Given the description of an element on the screen output the (x, y) to click on. 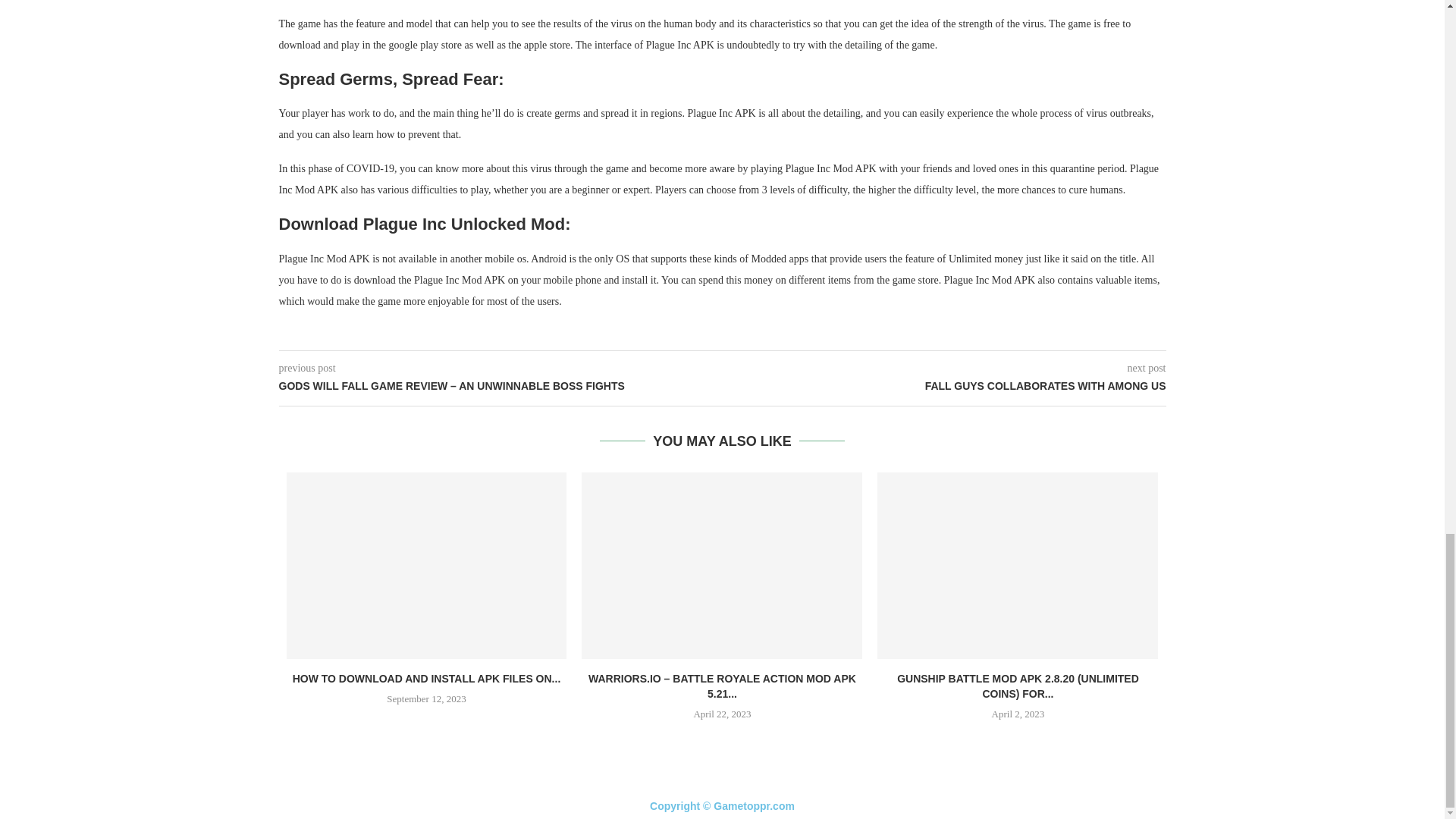
HOW TO DOWNLOAD AND INSTALL APK FILES ON... (426, 678)
FALL GUYS COLLABORATES WITH AMONG US (944, 386)
How To Download And Install APK Files On Android (426, 566)
